Given the description of an element on the screen output the (x, y) to click on. 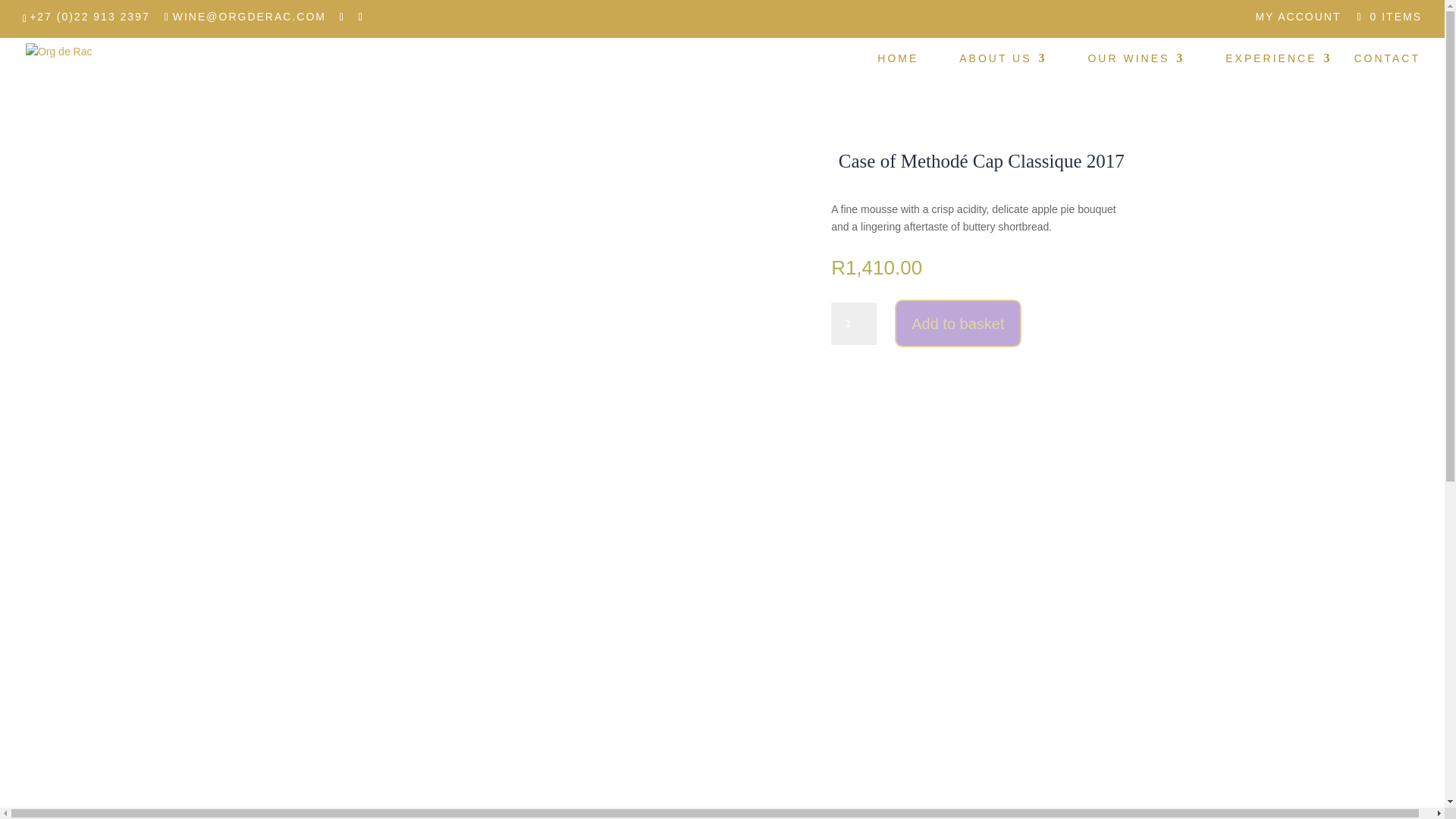
OUR WINES (1136, 73)
ABOUT US (1002, 73)
CONTACT (1387, 73)
EXPERIENCE (1278, 73)
1 (853, 323)
Add to basket (957, 323)
HOME (897, 73)
MY ACCOUNT (1297, 20)
0 ITEMS (1387, 16)
